Given the description of an element on the screen output the (x, y) to click on. 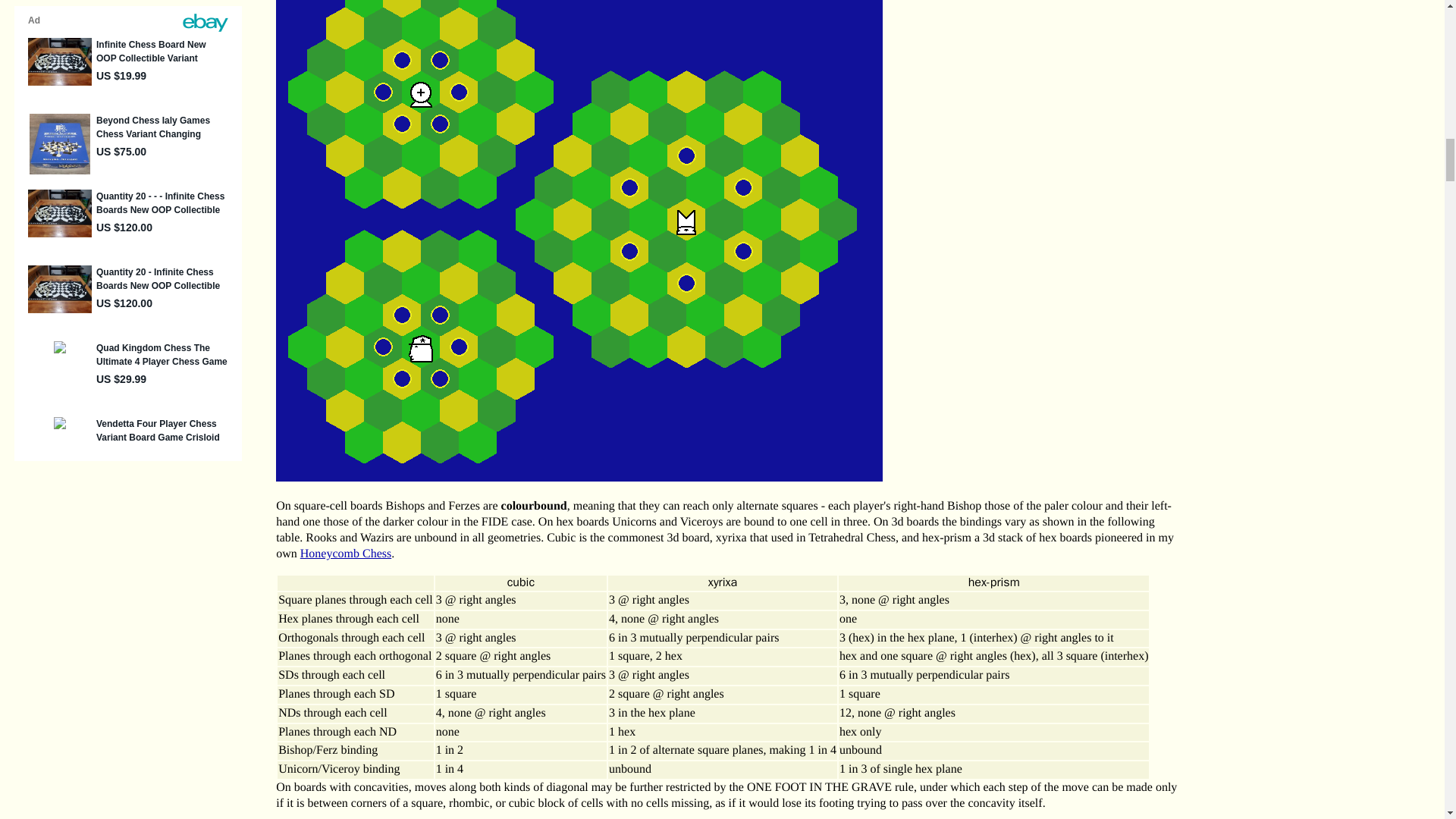
Honeycomb Chess (345, 553)
